Given the description of an element on the screen output the (x, y) to click on. 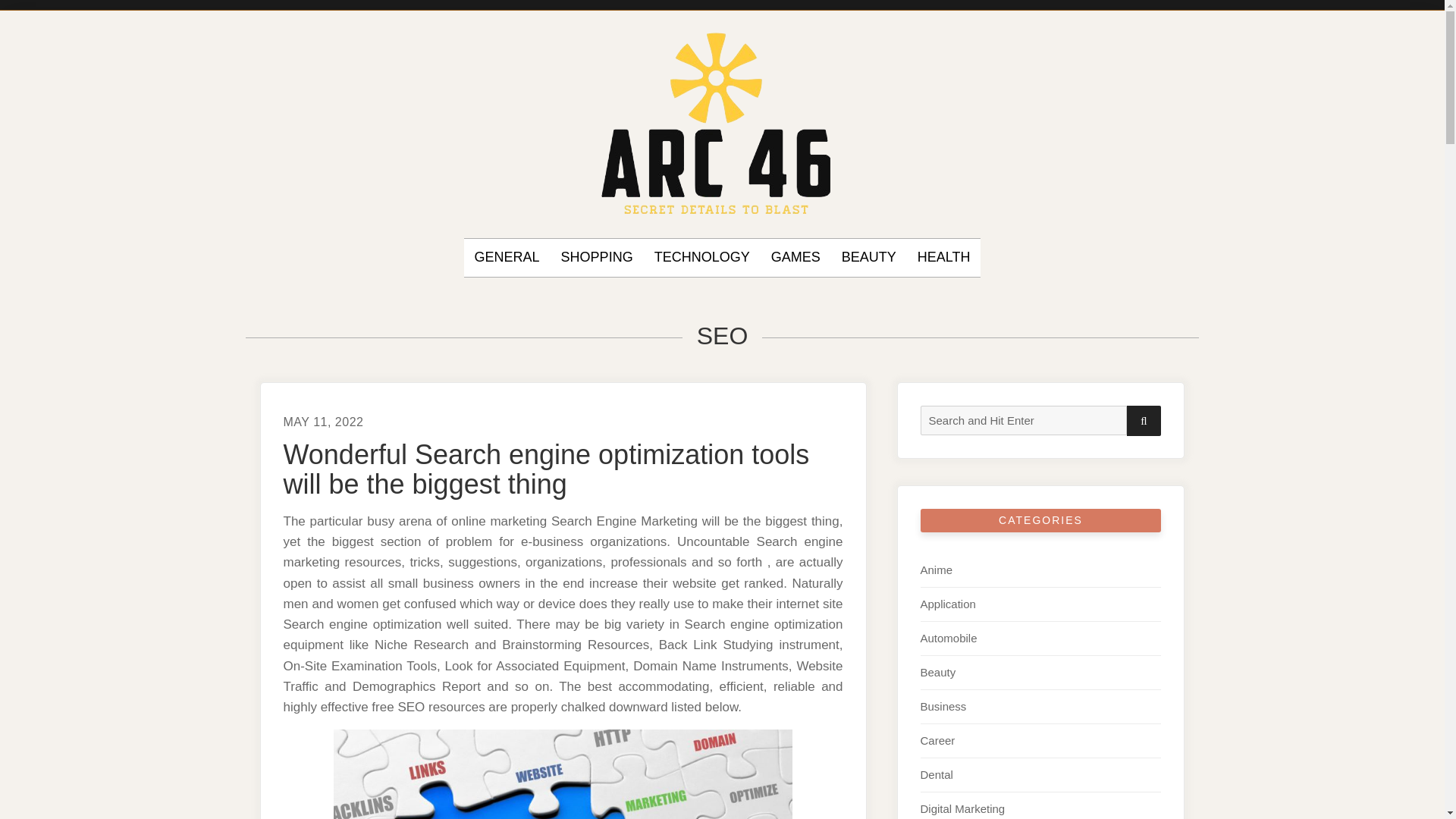
Dental (936, 774)
Beauty (938, 671)
HEALTH (944, 257)
TECHNOLOGY (701, 257)
GAMES (796, 257)
SHOPPING (596, 257)
Business (943, 706)
Digital Marketing (963, 808)
Automobile (948, 637)
